Given the description of an element on the screen output the (x, y) to click on. 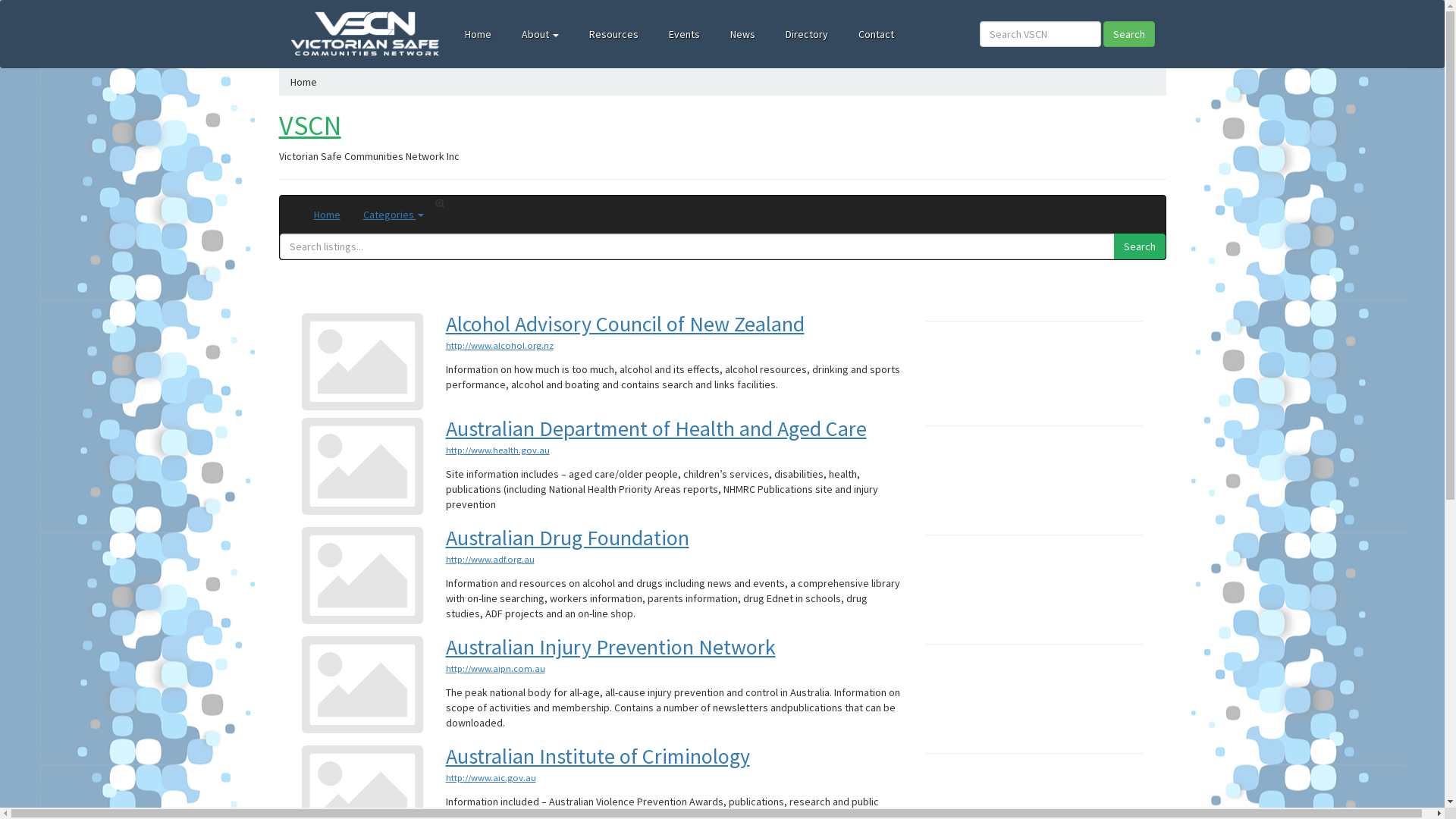
Australian Drug Foundation Element type: text (567, 537)
http://www.aipn.com.au Element type: text (495, 668)
Australian Institute of Criminology Element type: text (597, 755)
Home Element type: text (302, 81)
Contact Element type: text (876, 34)
Resources Element type: text (613, 34)
VSCN Element type: text (310, 125)
About Element type: text (540, 34)
http://www.adf.org.au Element type: text (489, 558)
http://www.alcohol.org.nz Element type: text (499, 345)
Categories Element type: text (393, 214)
Home Element type: text (477, 34)
Directory Element type: text (806, 34)
Australian Department of Health and Aged Care Element type: text (655, 428)
http://www.aic.gov.au Element type: text (490, 777)
Search Element type: text (1128, 34)
Alcohol Advisory Council of New Zealand Element type: text (624, 323)
Events Element type: text (684, 34)
Search Element type: text (1138, 246)
News Element type: text (742, 34)
Home Element type: text (326, 214)
Australian Injury Prevention Network Element type: text (610, 646)
http://www.health.gov.au Element type: text (497, 449)
